Given the description of an element on the screen output the (x, y) to click on. 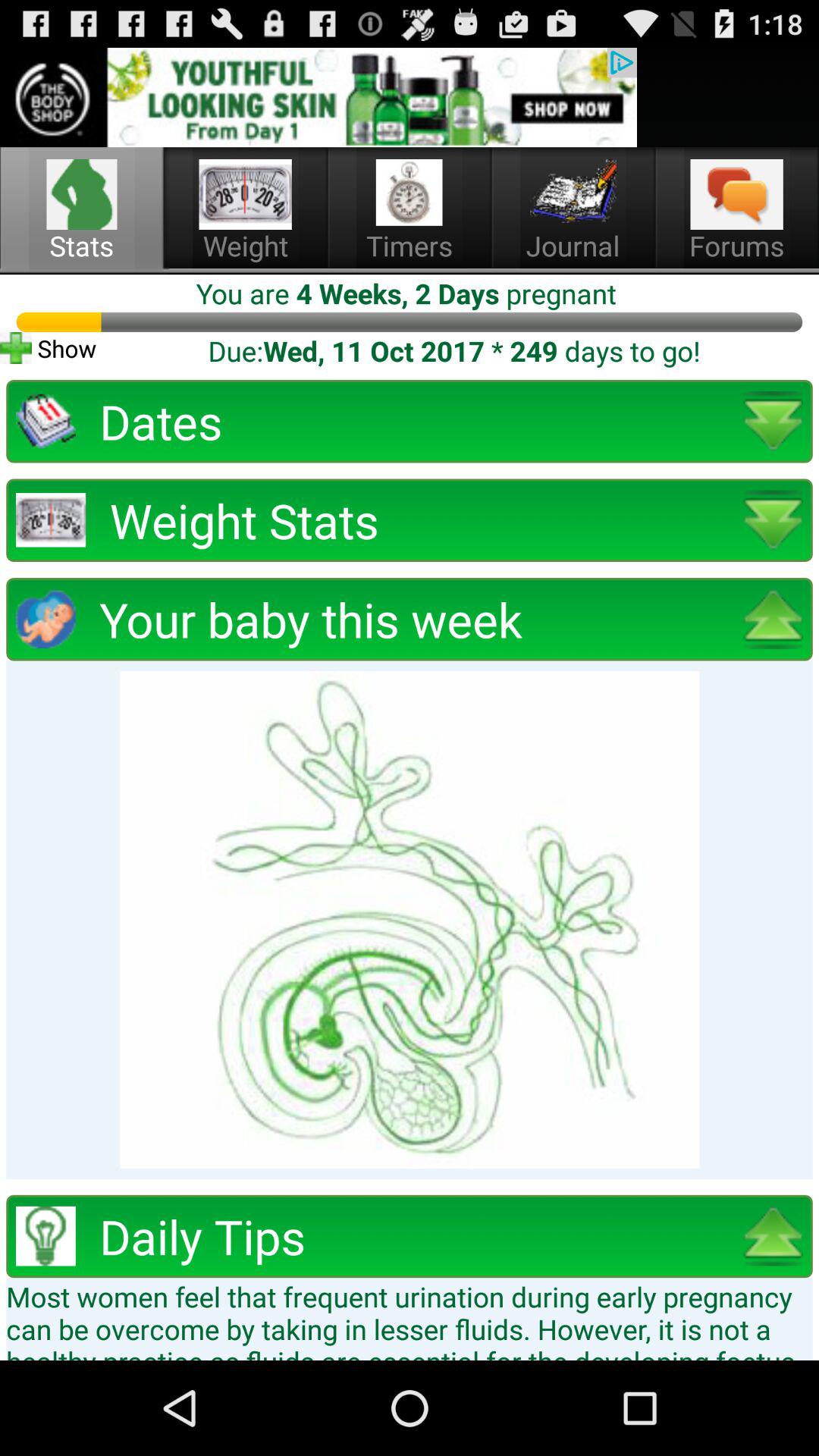
picture of your baby this week (409, 919)
